Given the description of an element on the screen output the (x, y) to click on. 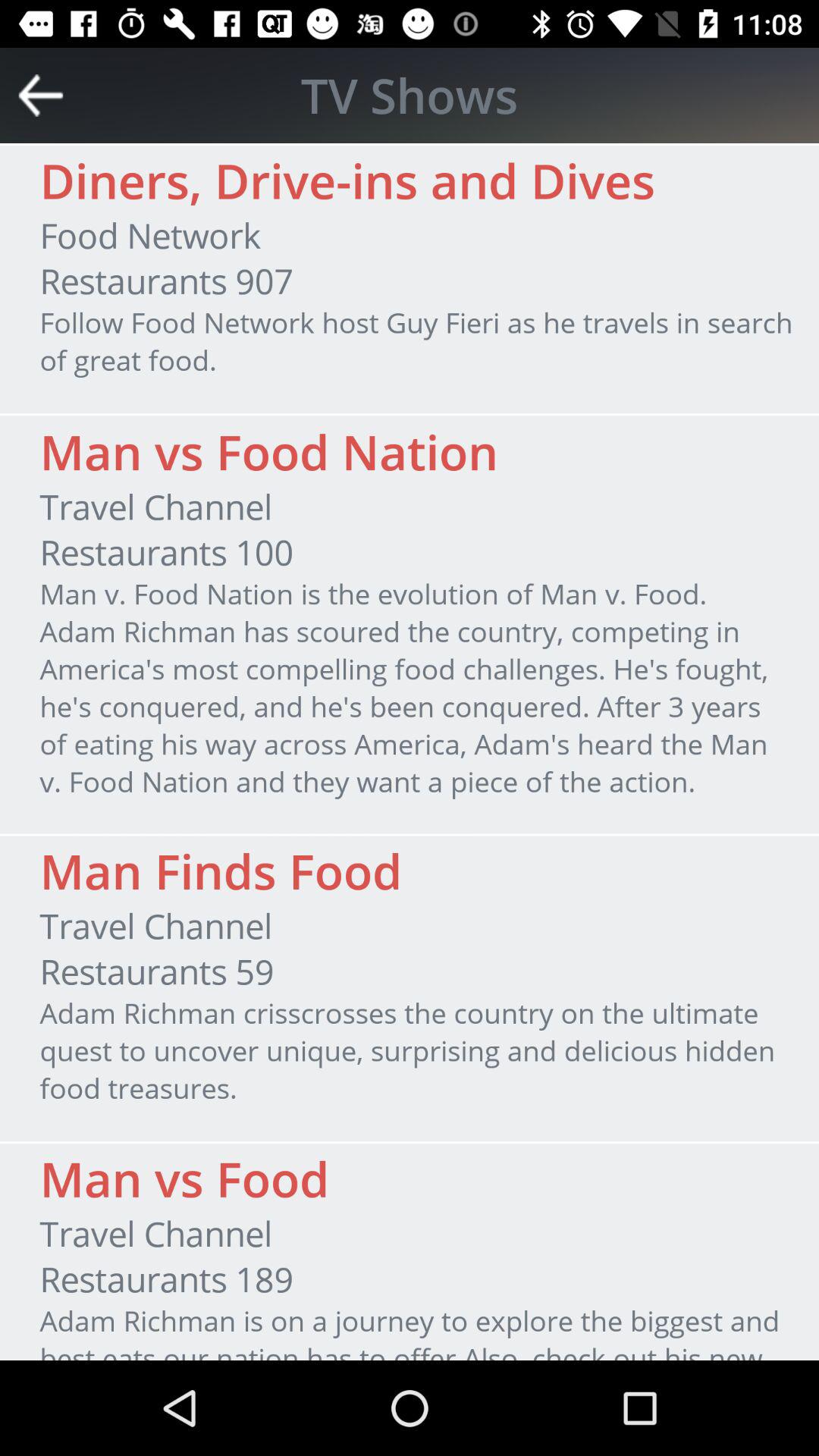
scroll to tv shows icon (409, 95)
